Given the description of an element on the screen output the (x, y) to click on. 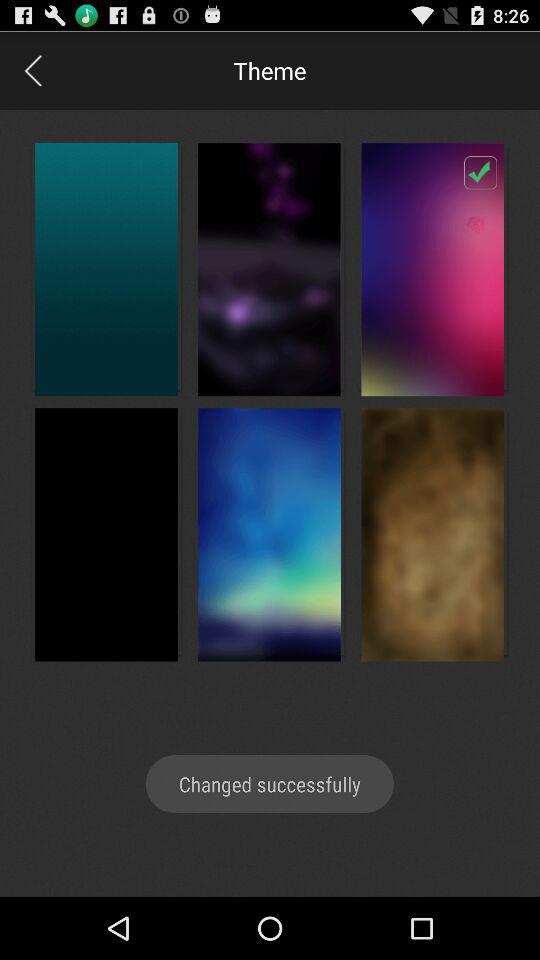
go back button (32, 70)
